Given the description of an element on the screen output the (x, y) to click on. 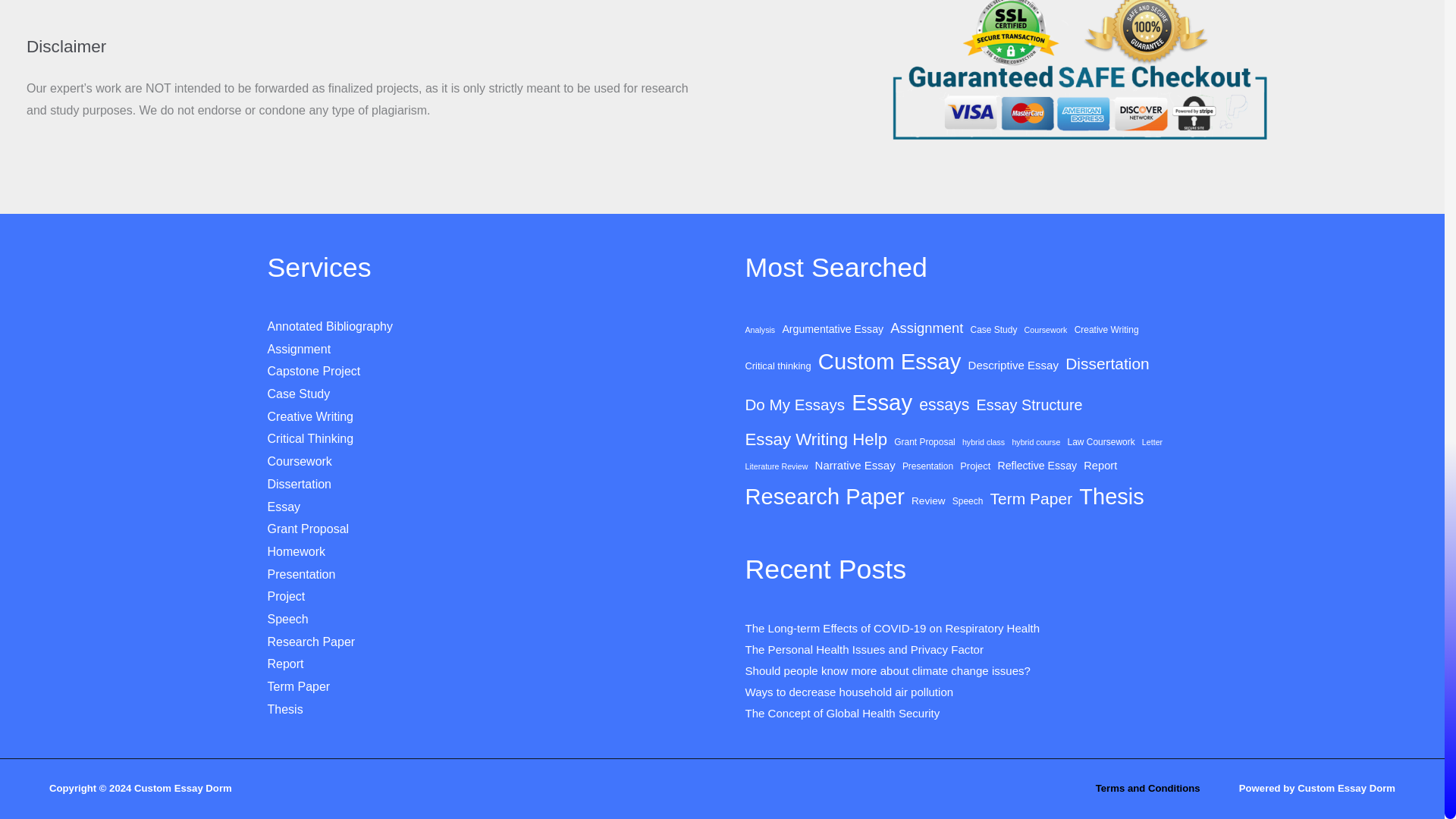
Search (685, 2)
Search (685, 2)
